Given the description of an element on the screen output the (x, y) to click on. 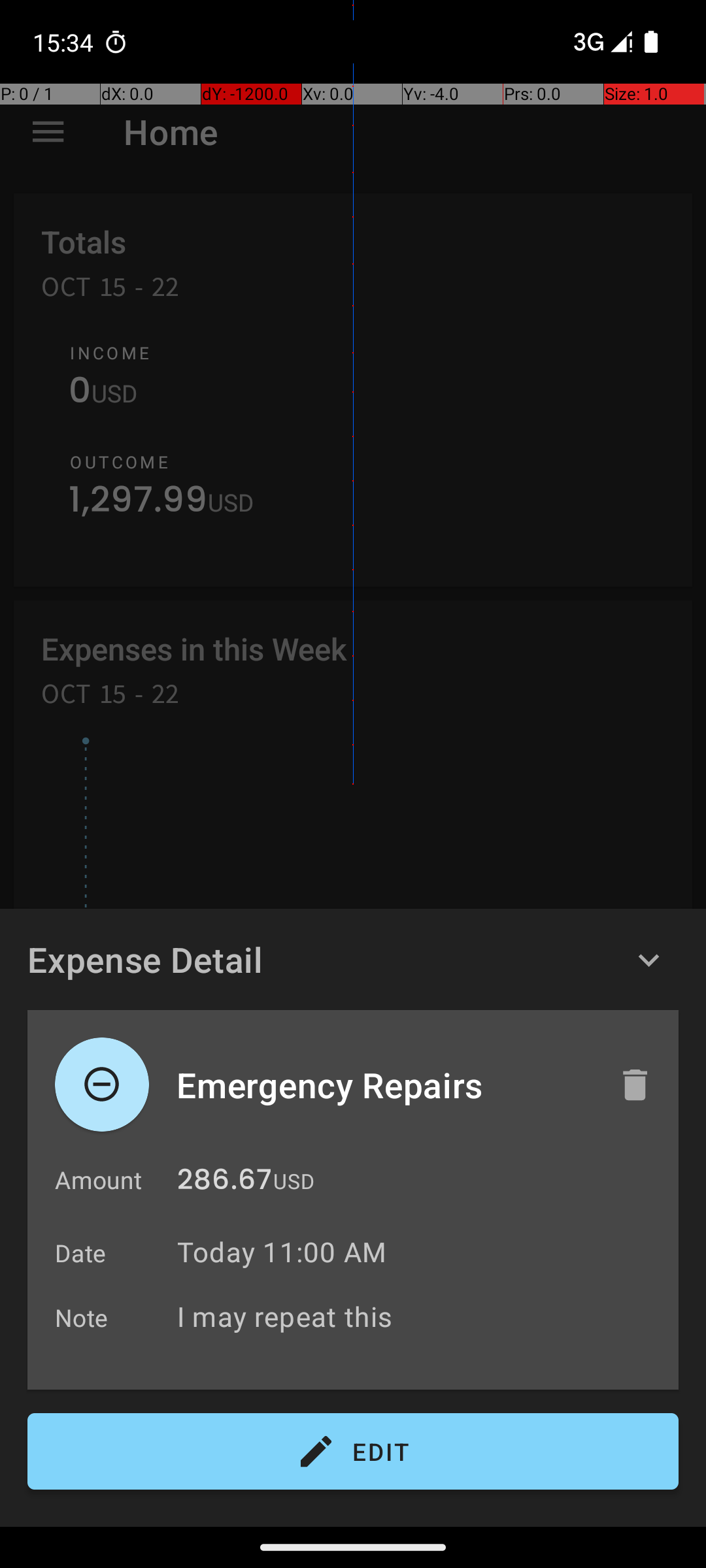
Emergency Repairs Element type: android.widget.TextView (383, 1084)
286.67 Element type: android.widget.TextView (224, 1182)
